Given the description of an element on the screen output the (x, y) to click on. 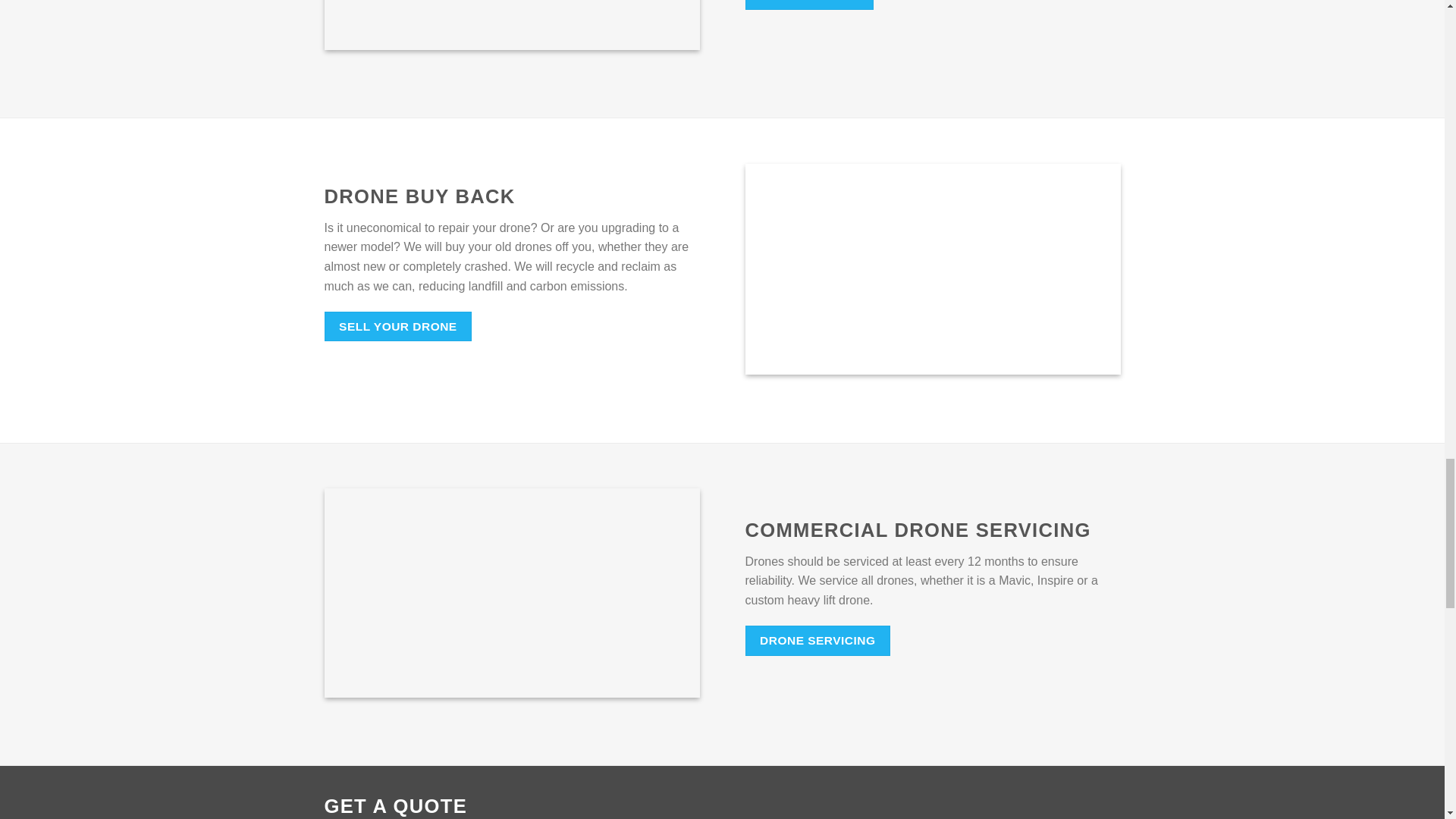
DRONE SERVICING (816, 640)
FIND OUT MORE (808, 4)
SELL YOUR DRONE (397, 326)
